Given the description of an element on the screen output the (x, y) to click on. 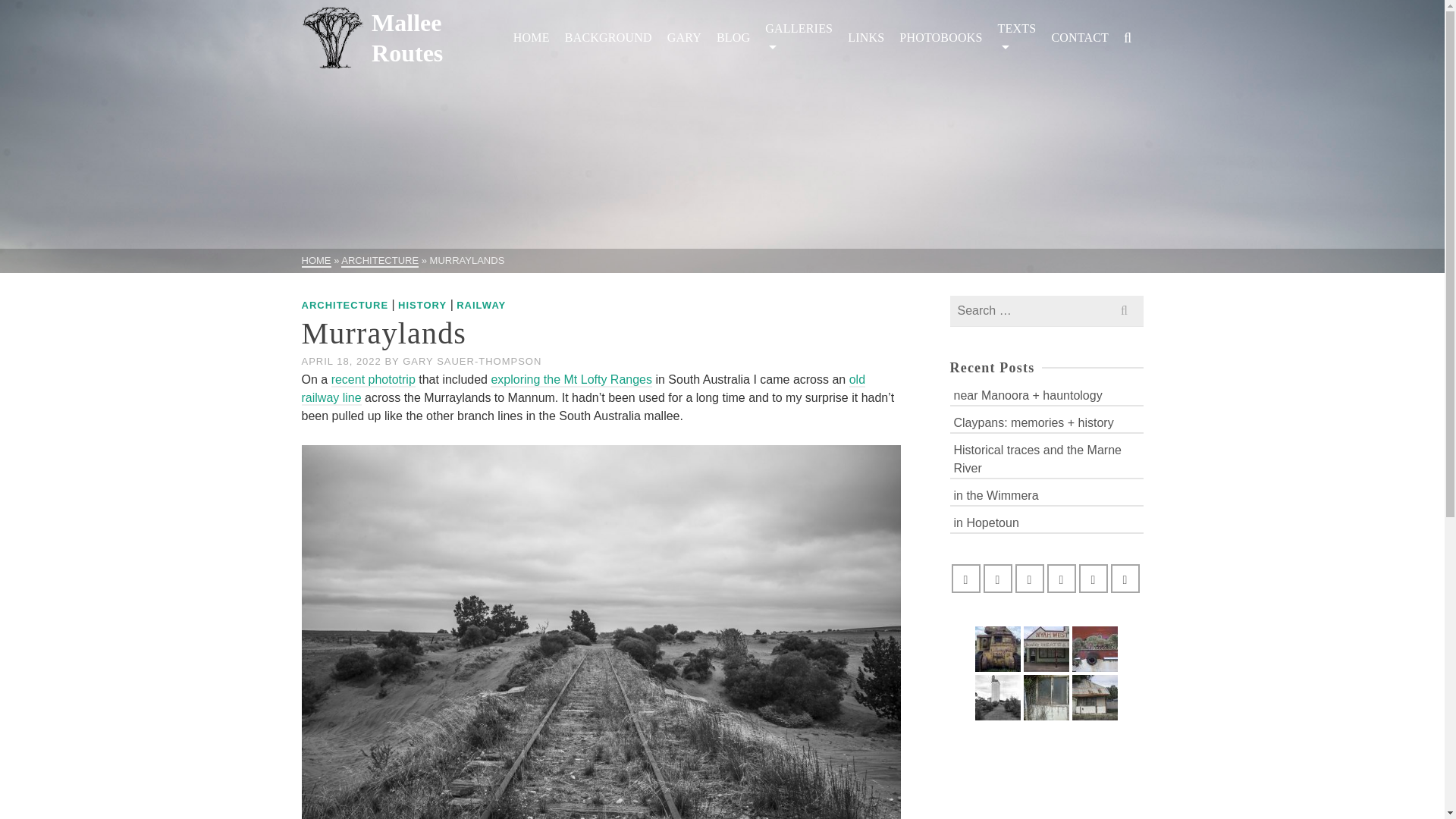
LINKS (865, 37)
HOME (316, 260)
Mallee Routes (403, 38)
February road trip: Parilla (1094, 697)
GARY (684, 37)
exploring the Mt Lofty Ranges (571, 380)
RAILWAY (481, 305)
Copeville, South Australia (997, 697)
BACKGROUND (608, 37)
HOME (531, 37)
Mallee Routes photobook (1094, 648)
old railway line (583, 389)
Lake Boga photo-camp (1045, 648)
HISTORY (421, 305)
GALLERIES (798, 37)
